Given the description of an element on the screen output the (x, y) to click on. 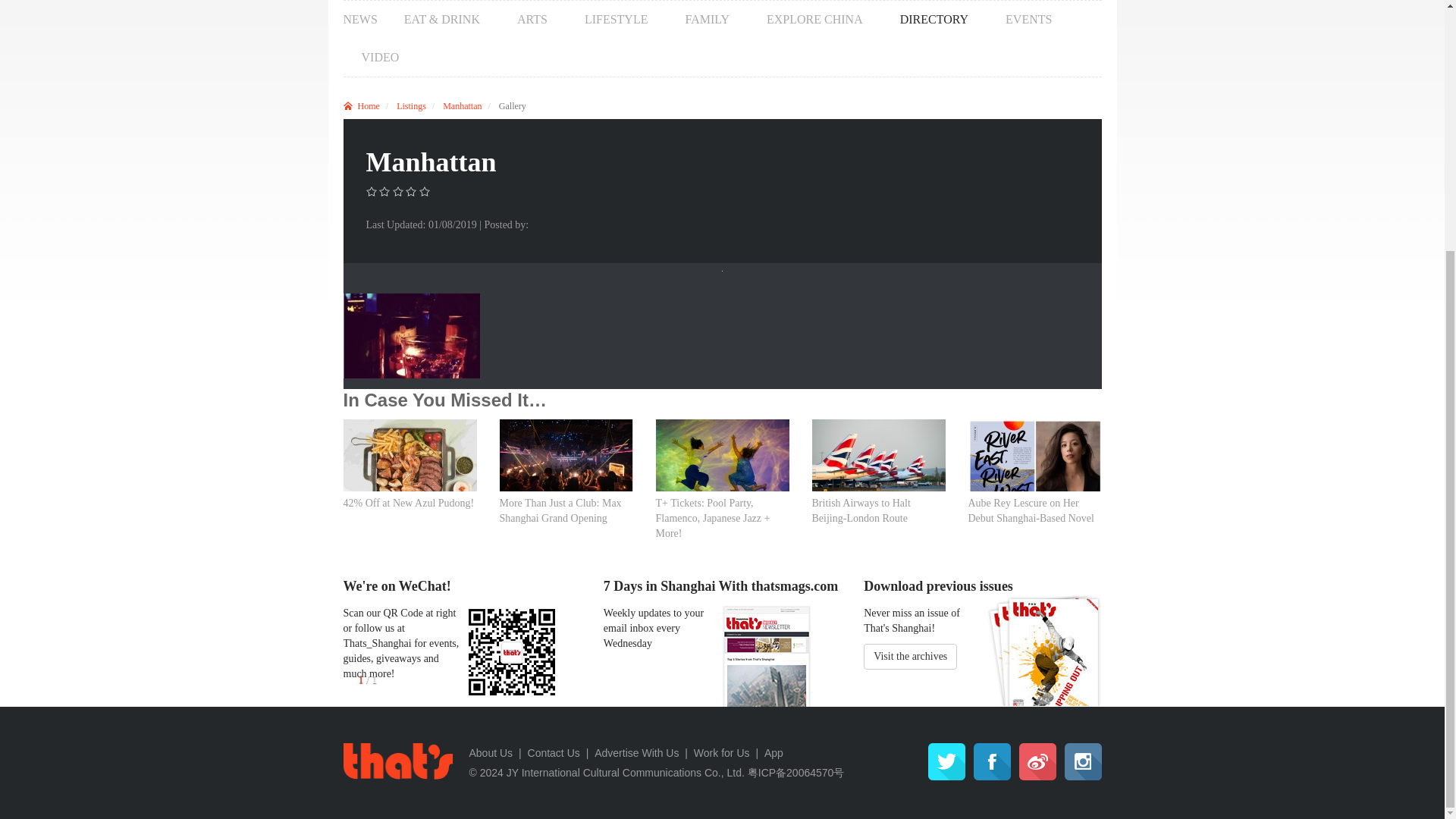
ARTS (532, 19)
Listings (411, 105)
Manhattan (461, 105)
NEWS (359, 19)
VIDEO (370, 57)
Home (360, 105)
EVENTS (1028, 19)
LIFESTYLE (616, 19)
FAMILY (707, 19)
DIRECTORY (934, 19)
